Given the description of an element on the screen output the (x, y) to click on. 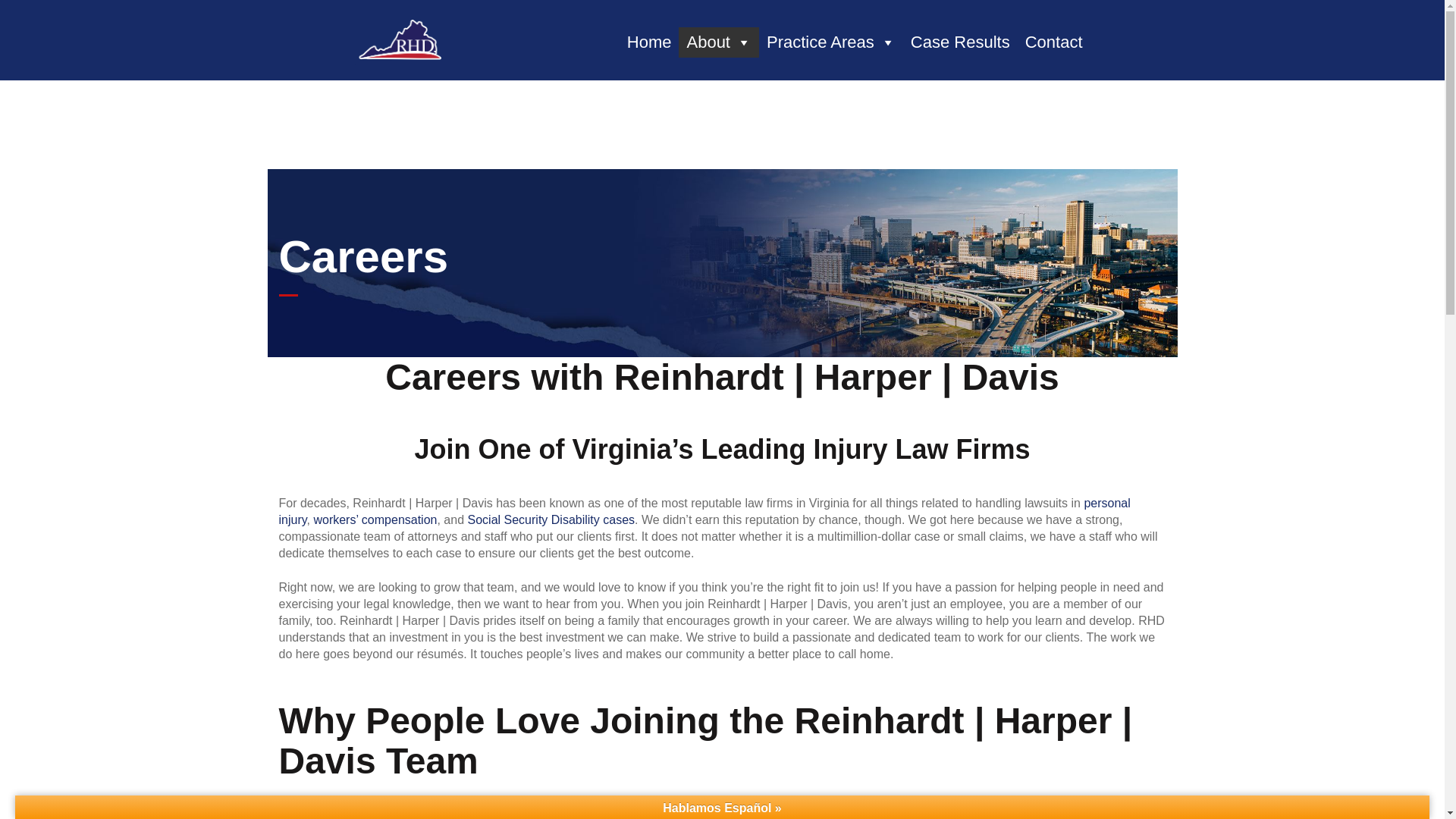
Home (649, 42)
About (718, 42)
Case Results (959, 42)
Practice Areas (830, 42)
Contact (1053, 42)
